Given the description of an element on the screen output the (x, y) to click on. 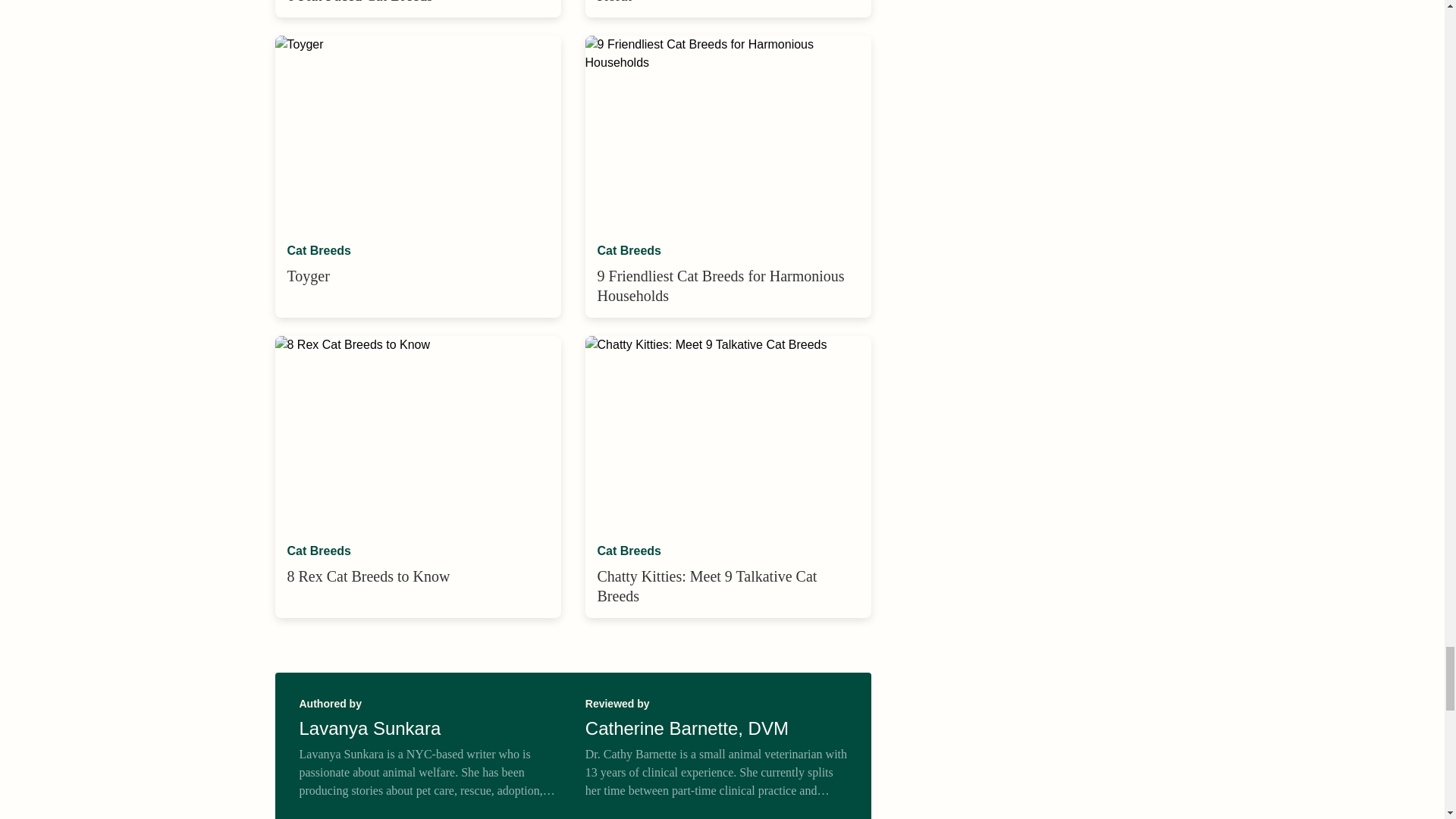
8 Rex Cat Breeds to Know (417, 432)
9 Friendliest Cat Breeds for Harmonious Households (728, 133)
Chatty Kitties: Meet 9 Talkative Cat Breeds (728, 432)
Toyger (417, 133)
